Given the description of an element on the screen output the (x, y) to click on. 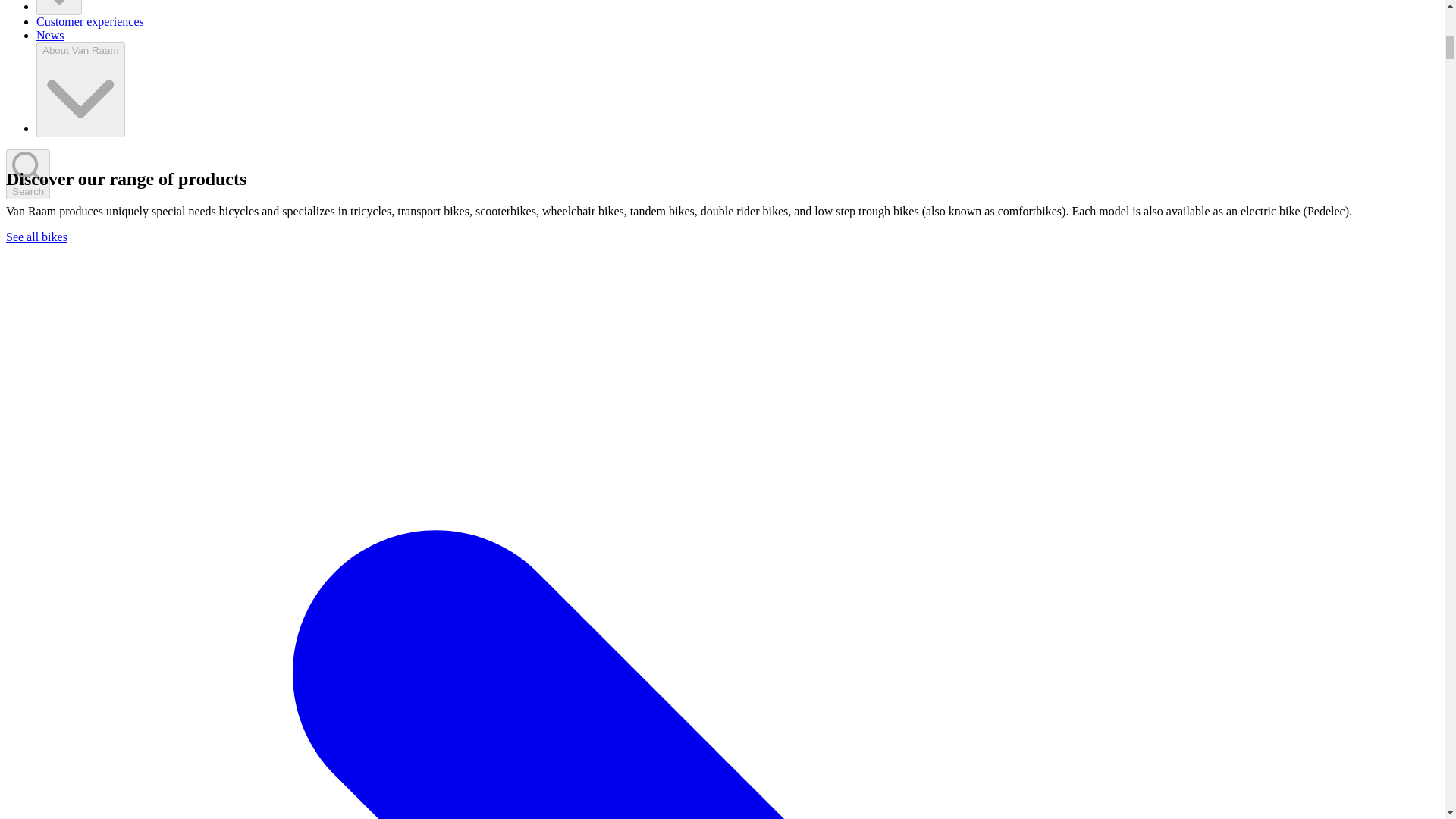
Customer experiences (90, 21)
About Van Raam (80, 89)
Service (58, 7)
News (50, 34)
